Given the description of an element on the screen output the (x, y) to click on. 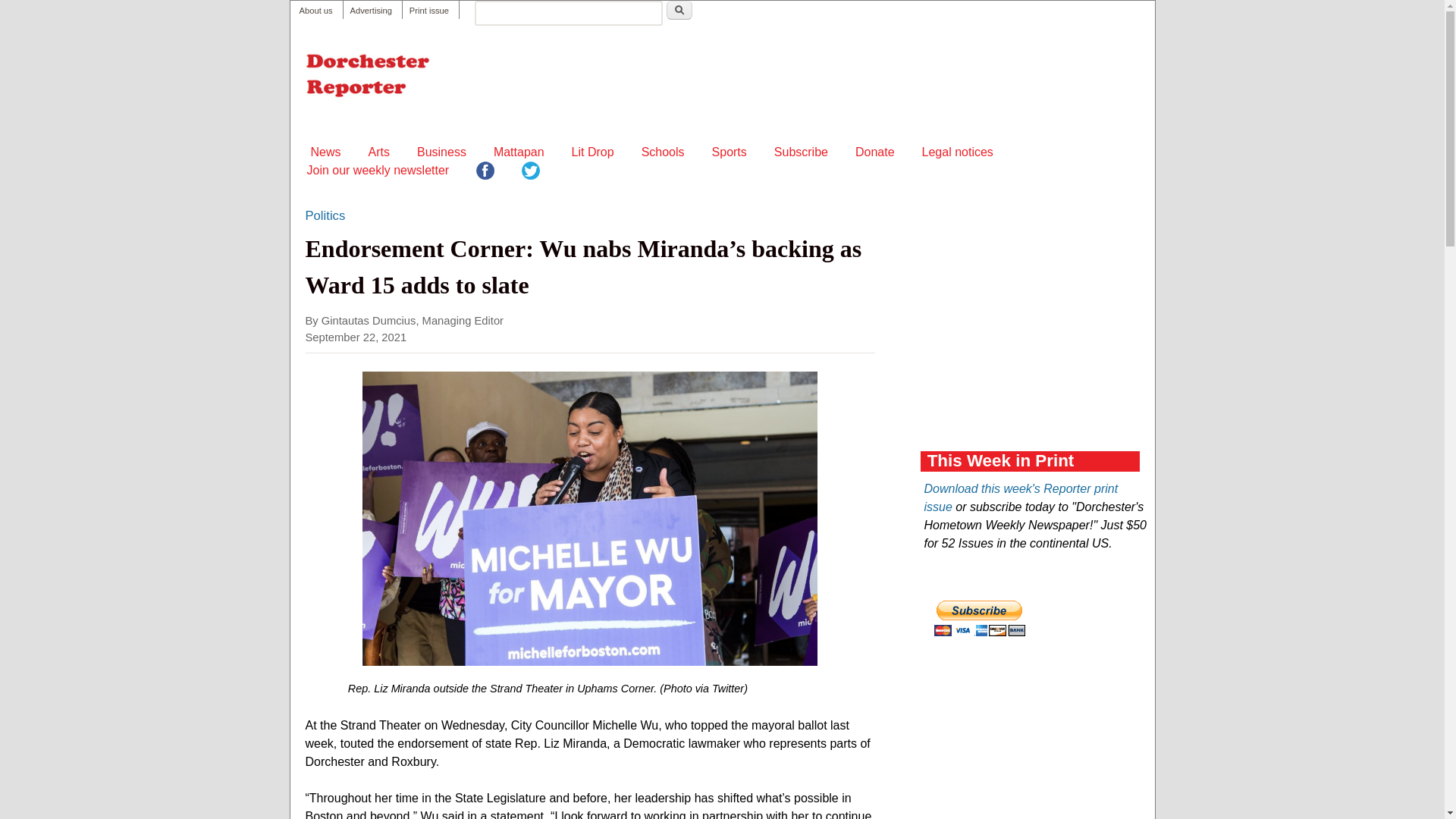
The DotNews Twitter feed (530, 173)
3rd party ad content (1034, 755)
Arts (379, 152)
Search (679, 9)
3rd party ad content (775, 82)
Reporter on Facebook (485, 173)
Mattapan (518, 152)
Advertising (371, 10)
Download this week's Reporter print issue (1020, 497)
About the Reporter (315, 10)
About us (315, 10)
Enter the terms you wish to search for. (568, 12)
Sports (729, 152)
Politics (324, 215)
